Given the description of an element on the screen output the (x, y) to click on. 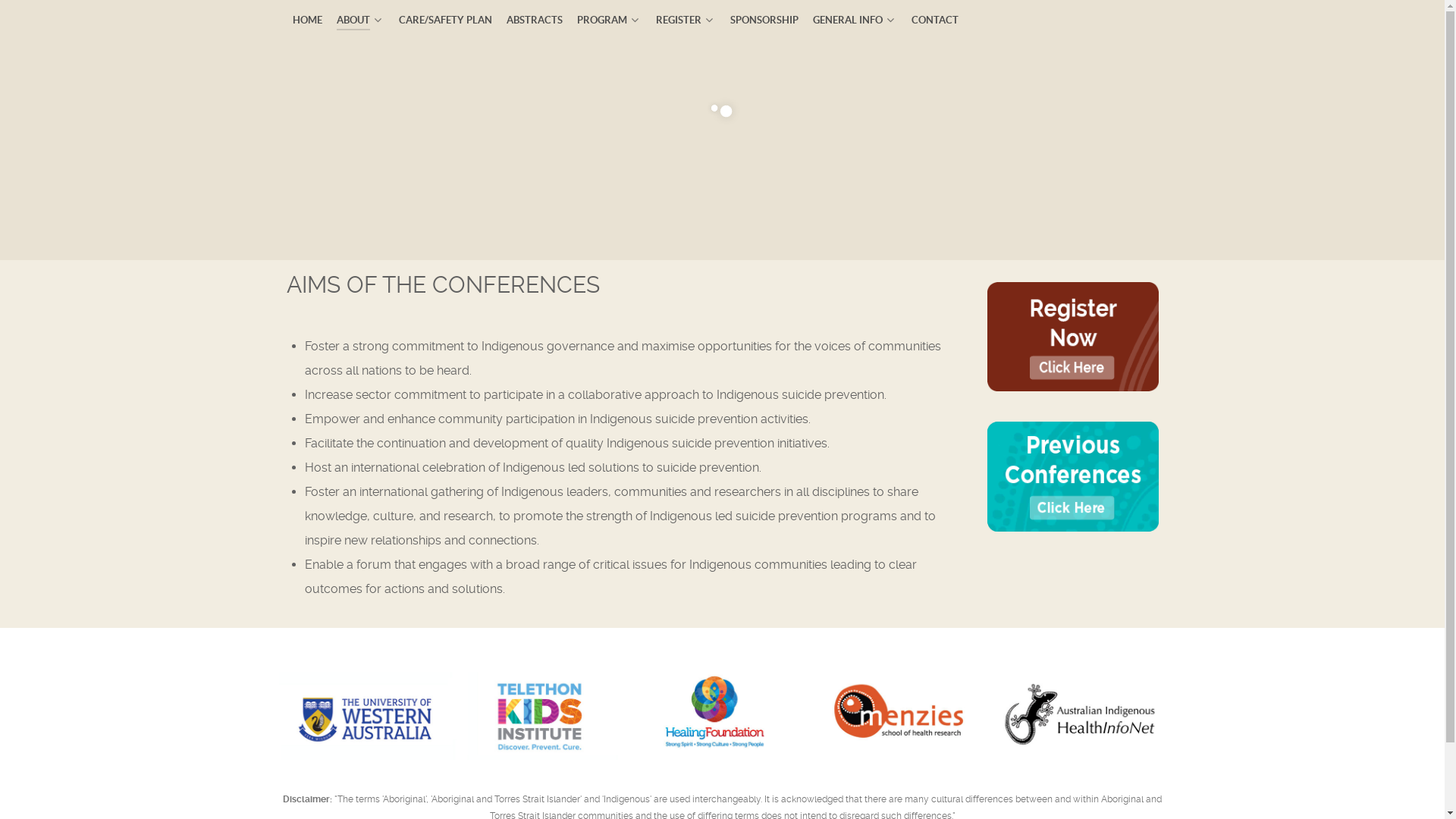
CONTACT Element type: text (934, 20)
SPONSORSHIP Element type: text (763, 20)
HOME Element type: text (307, 20)
ABSTRACTS Element type: text (534, 20)
CARE/SAFETY PLAN Element type: text (445, 20)
